Given the description of an element on the screen output the (x, y) to click on. 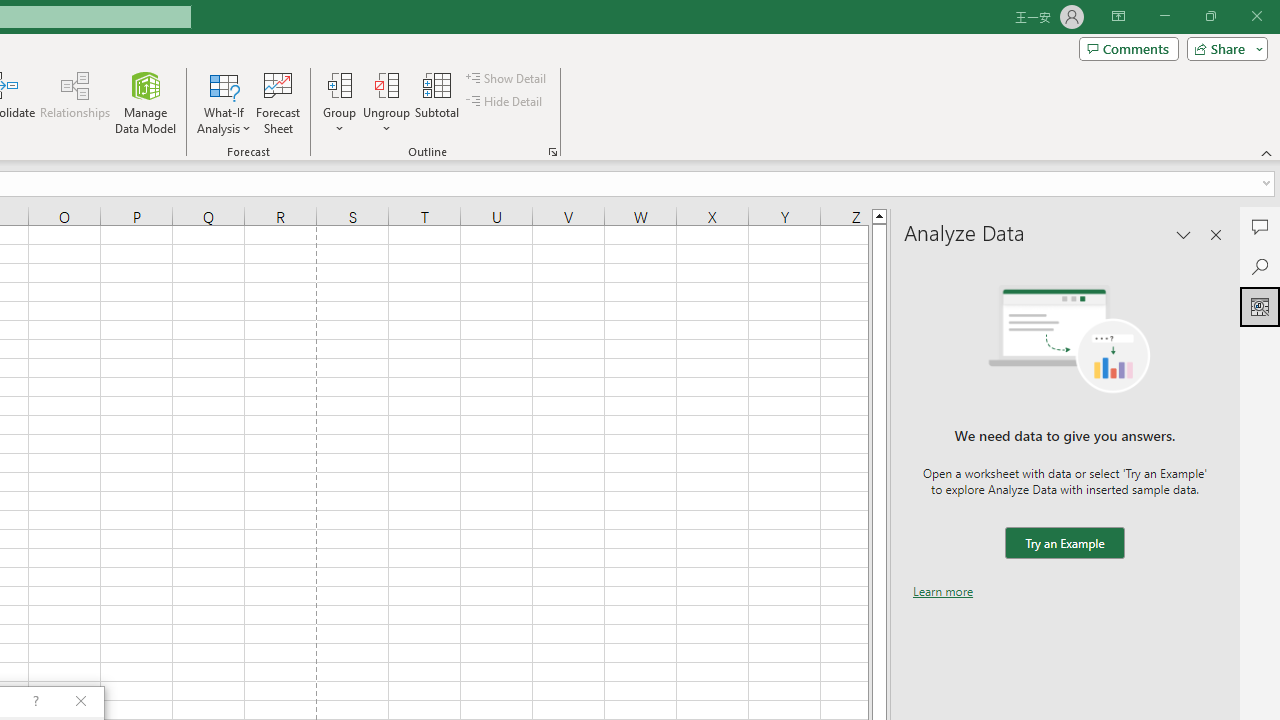
We need data to give you answers. Try an Example (1064, 543)
Forecast Sheet (278, 102)
Show Detail (507, 78)
Analyze Data (1260, 306)
Ribbon Display Options (1118, 16)
Comments (1128, 48)
Share (1223, 48)
Subtotal (437, 102)
Learn more (943, 591)
Group... (339, 102)
Manage Data Model (145, 102)
Ungroup... (386, 84)
Collapse the Ribbon (1267, 152)
Comments (1260, 226)
